Given the description of an element on the screen output the (x, y) to click on. 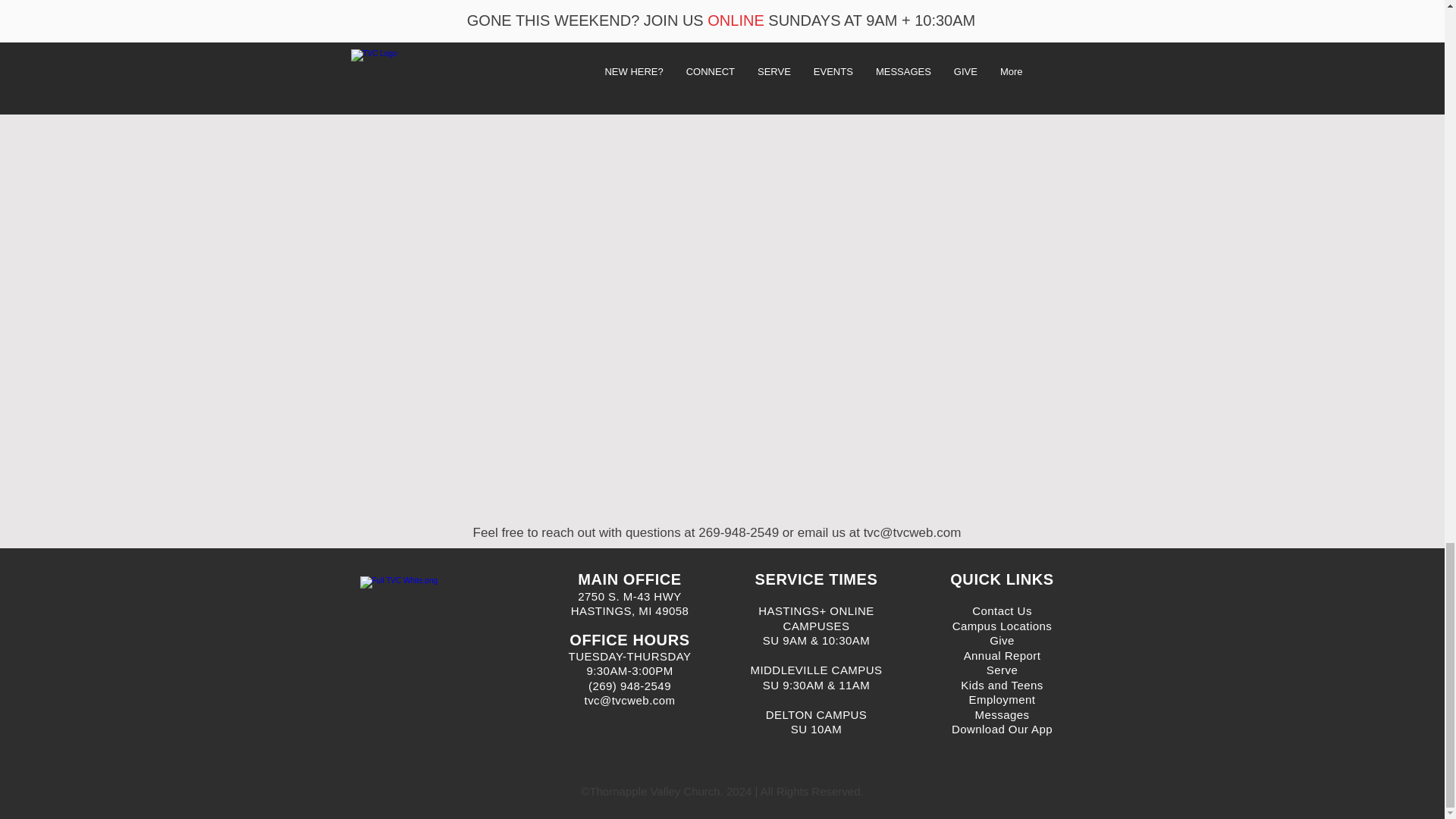
DELTON CAMPUS (816, 714)
MIDDLEVILLE CAMPUS (816, 669)
Contact Us (1002, 610)
SU (772, 684)
